Given the description of an element on the screen output the (x, y) to click on. 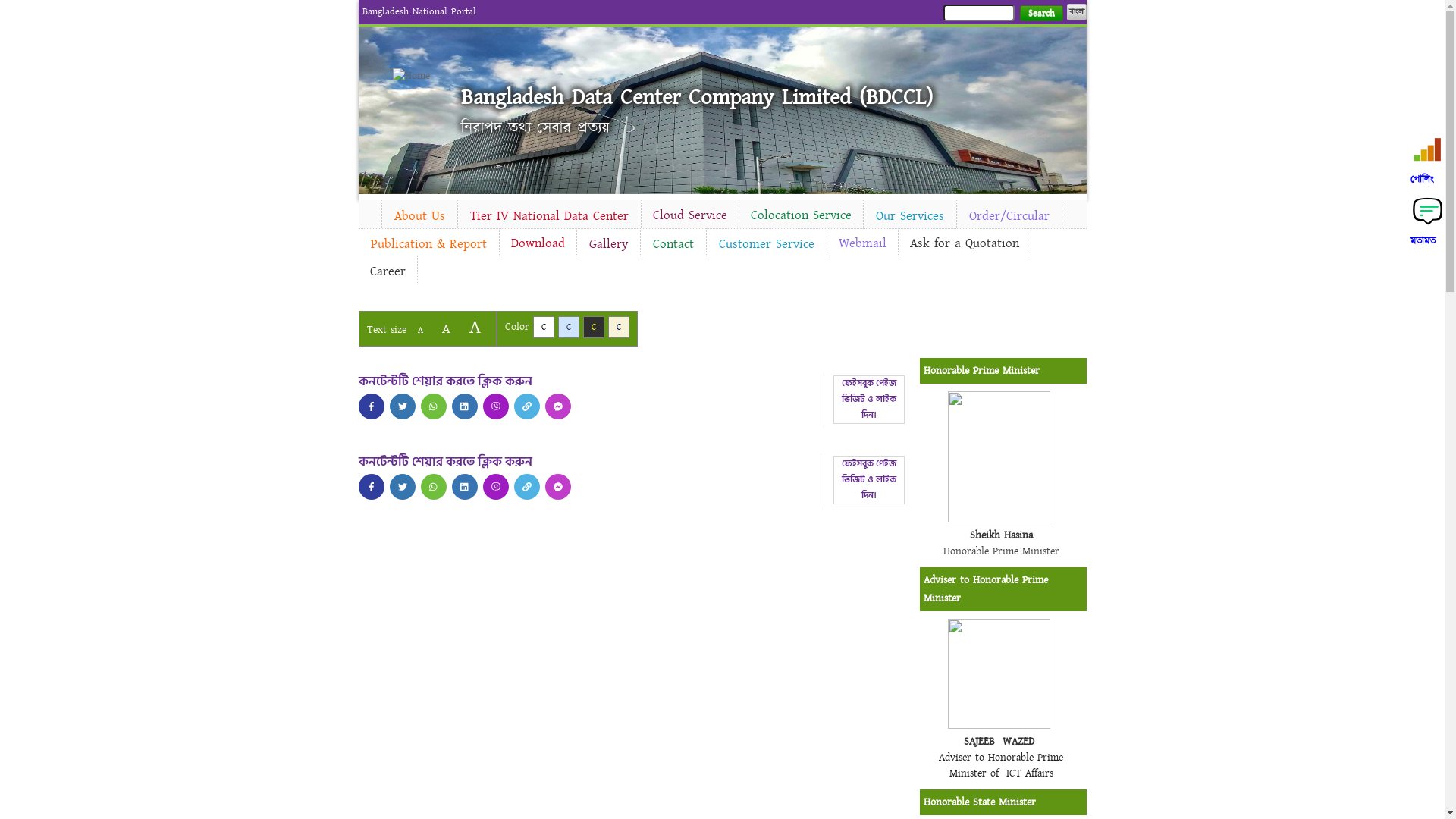
Bangladesh National Portal Element type: text (419, 11)
Ask for a Quotation Element type: text (963, 243)
A Element type: text (419, 330)
A Element type: text (474, 327)
Order/Circular Element type: text (1009, 216)
Gallery Element type: text (607, 244)
Publication & Report Element type: text (427, 244)
C Element type: text (568, 327)
About Us Element type: text (419, 216)
A Element type: text (445, 328)
Home Element type: hover (368, 211)
C Element type: text (542, 327)
C Element type: text (592, 327)
Webmail Element type: text (861, 243)
Download Element type: text (536, 243)
Cloud Service Element type: text (689, 215)
Home Element type: hover (418, 76)
Search Element type: text (1040, 13)
Bangladesh Data Center Company Limited (BDCCL) Element type: text (696, 96)
C Element type: text (618, 327)
Our Services Element type: text (908, 216)
Contact Element type: text (672, 244)
Tier IV National Data Center Element type: text (549, 216)
Colocation Service Element type: text (800, 215)
Customer Service Element type: text (766, 244)
Career Element type: text (386, 271)
